Given the description of an element on the screen output the (x, y) to click on. 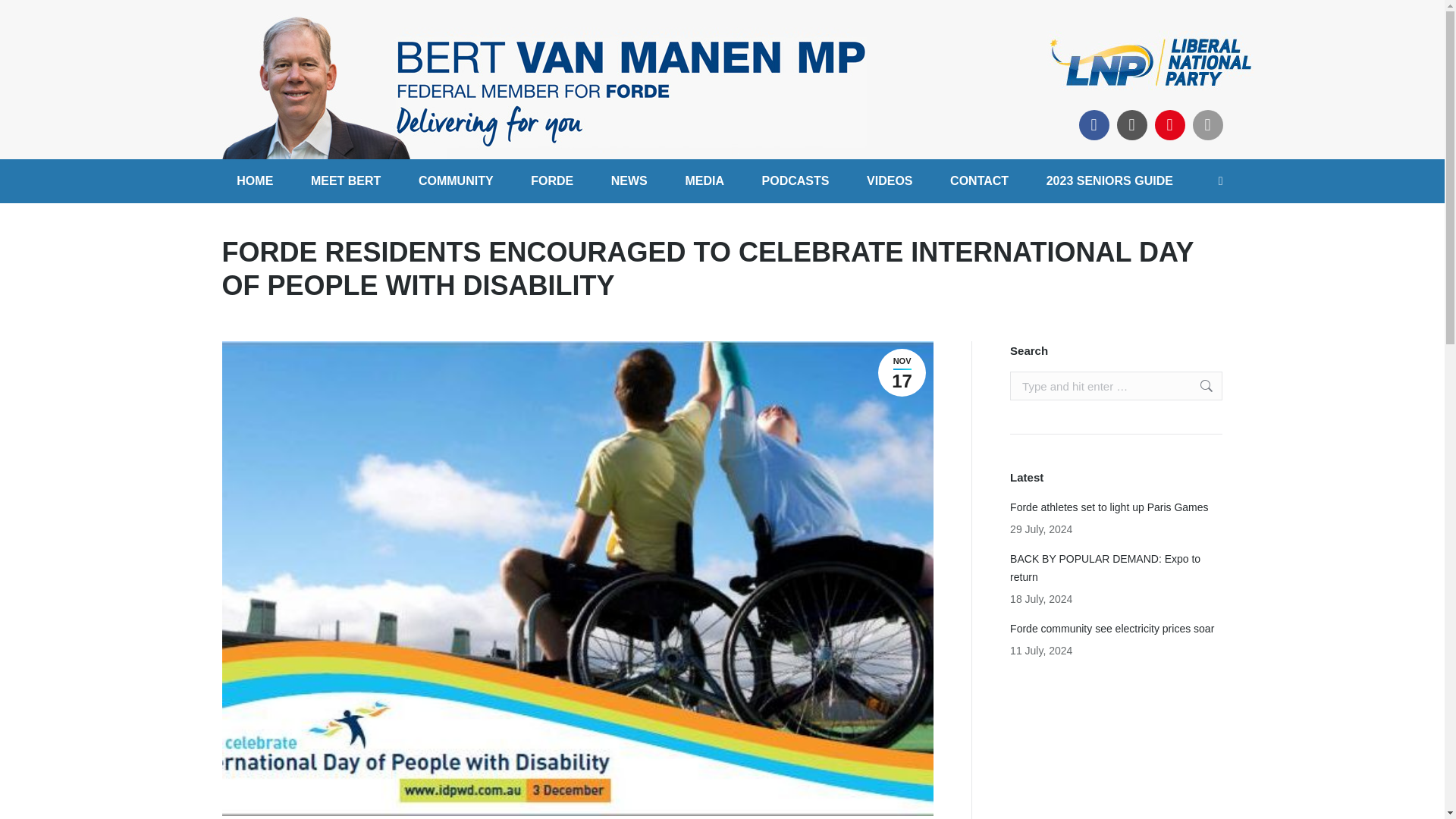
FORDE (551, 180)
CONTACT (978, 180)
MEDIA (704, 180)
HOME (254, 180)
Facebook page opens in new window (1093, 124)
PODCASTS (795, 180)
Facebook page opens in new window (1093, 124)
Instagram page opens in new window (1131, 124)
YouTube page opens in new window (1169, 124)
NEWS (628, 180)
